Given the description of an element on the screen output the (x, y) to click on. 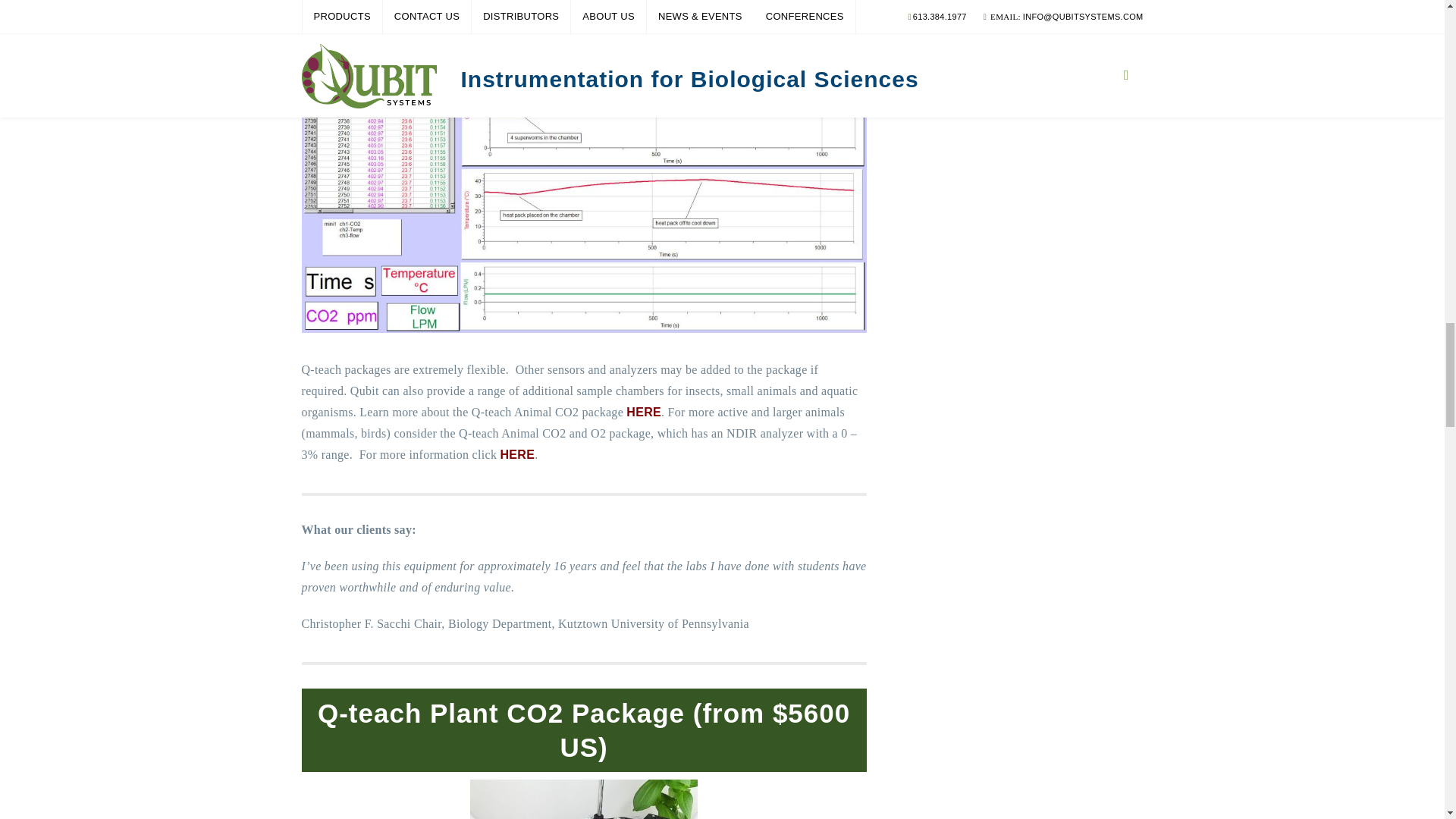
HERE (517, 454)
Q-teach-plant-5-a (583, 799)
HERE (643, 411)
